Given the description of an element on the screen output the (x, y) to click on. 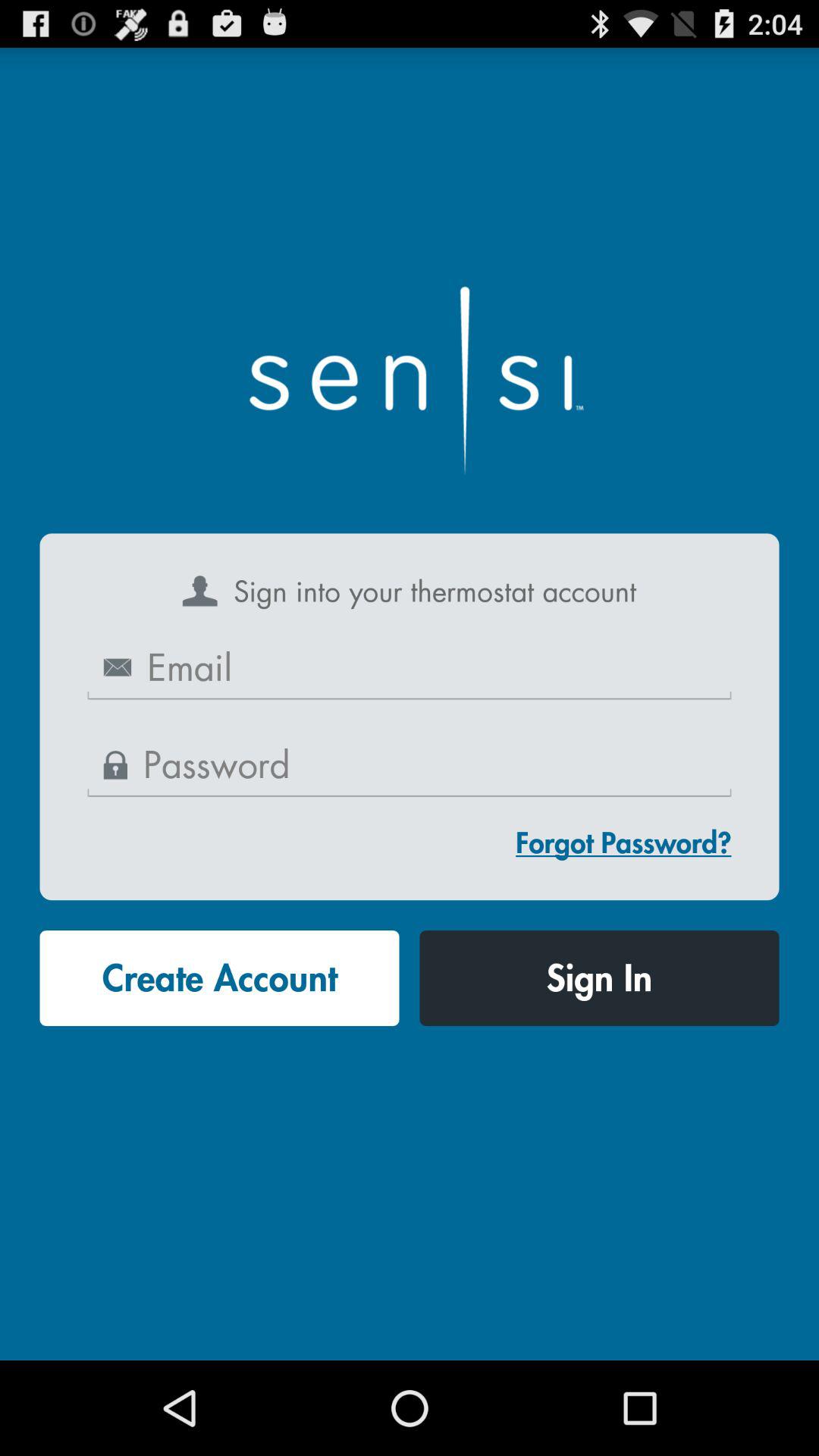
launch the icon above sign in (623, 842)
